Given the description of an element on the screen output the (x, y) to click on. 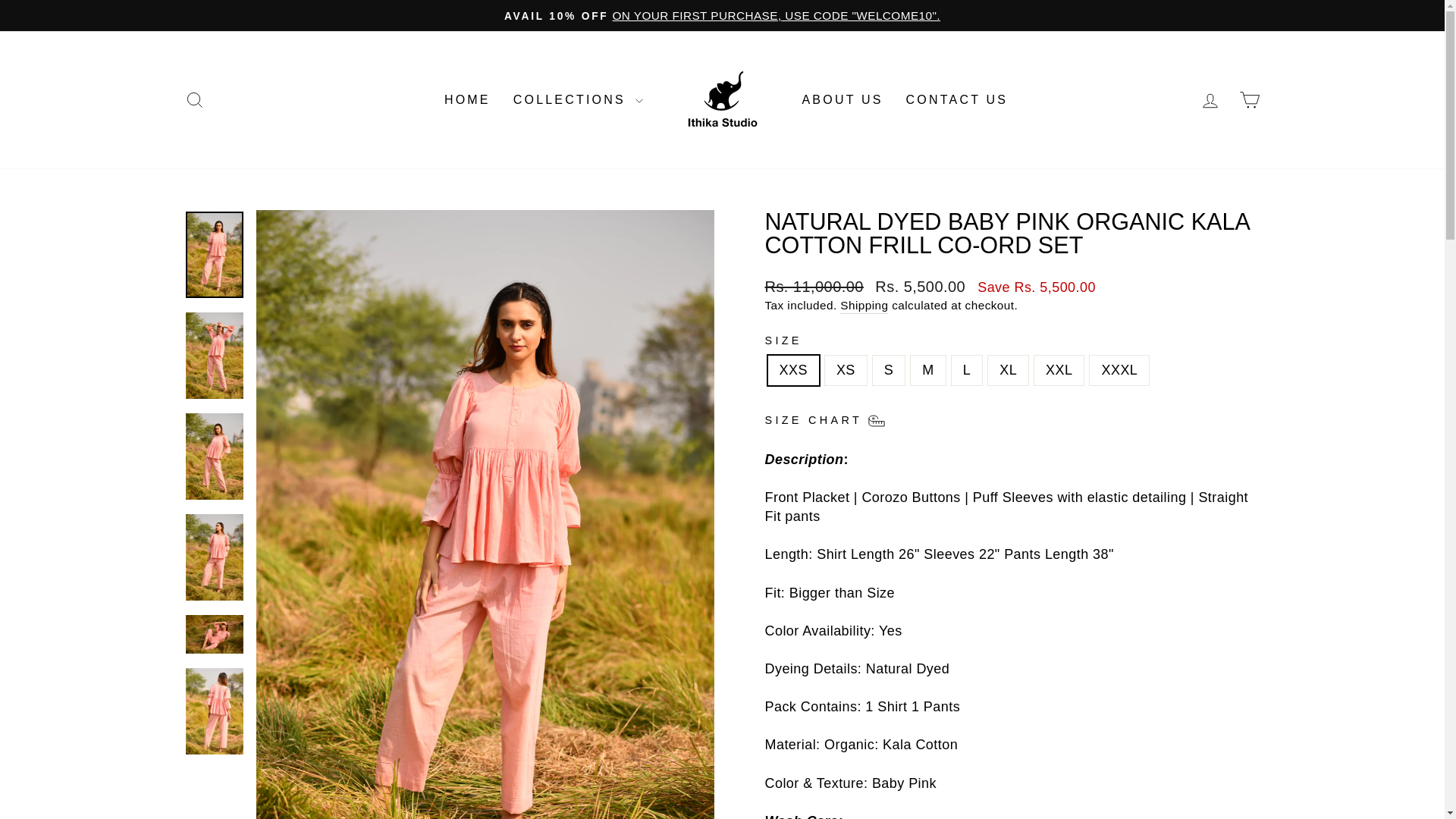
ABOUT US (1210, 100)
CONTACT US (841, 100)
CART (957, 100)
ACCOUNT (1249, 100)
XL (1210, 100)
L (194, 99)
HOME (194, 100)
